Given the description of an element on the screen output the (x, y) to click on. 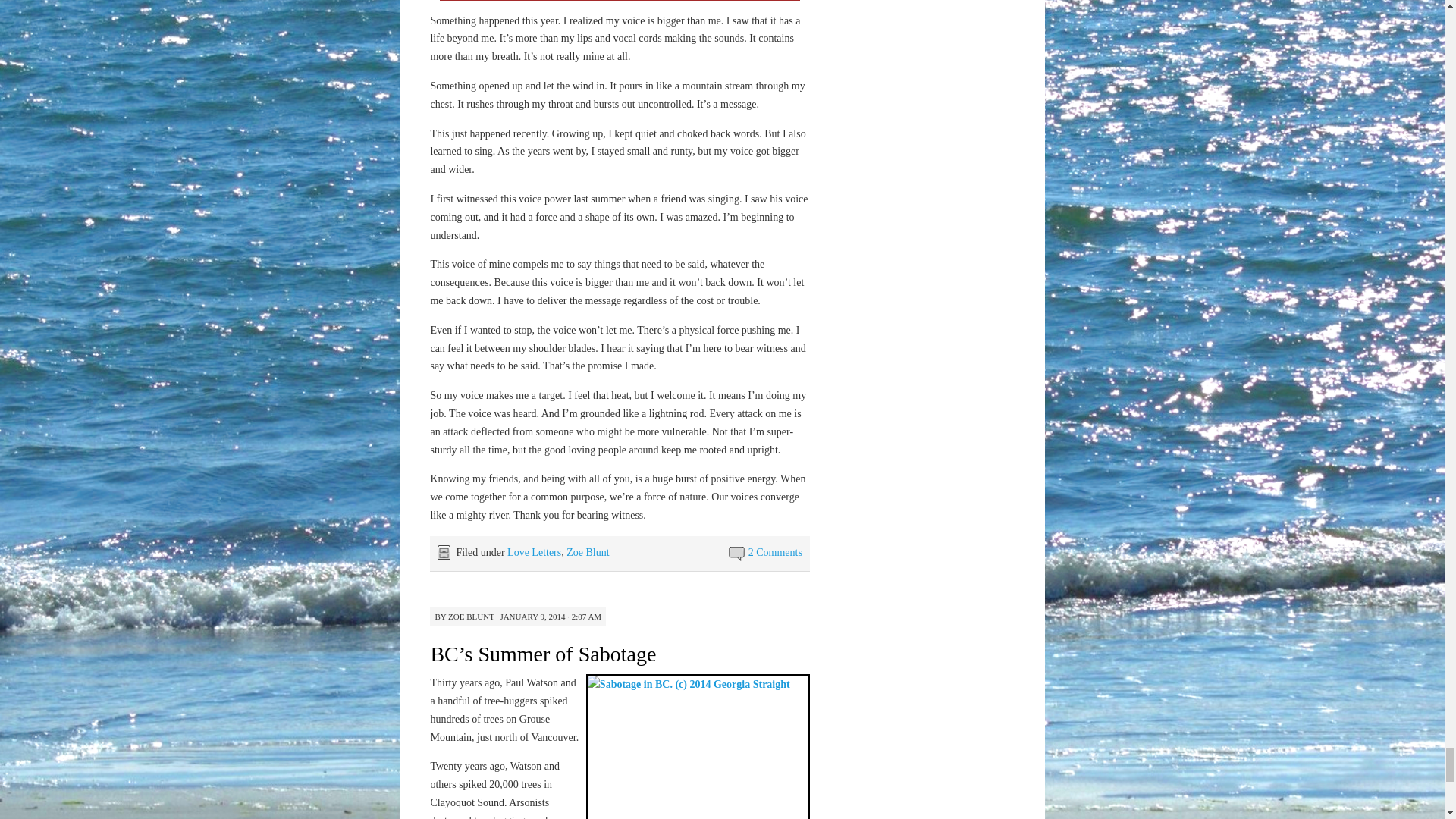
View all posts by Zoe Blunt (471, 615)
